Given the description of an element on the screen output the (x, y) to click on. 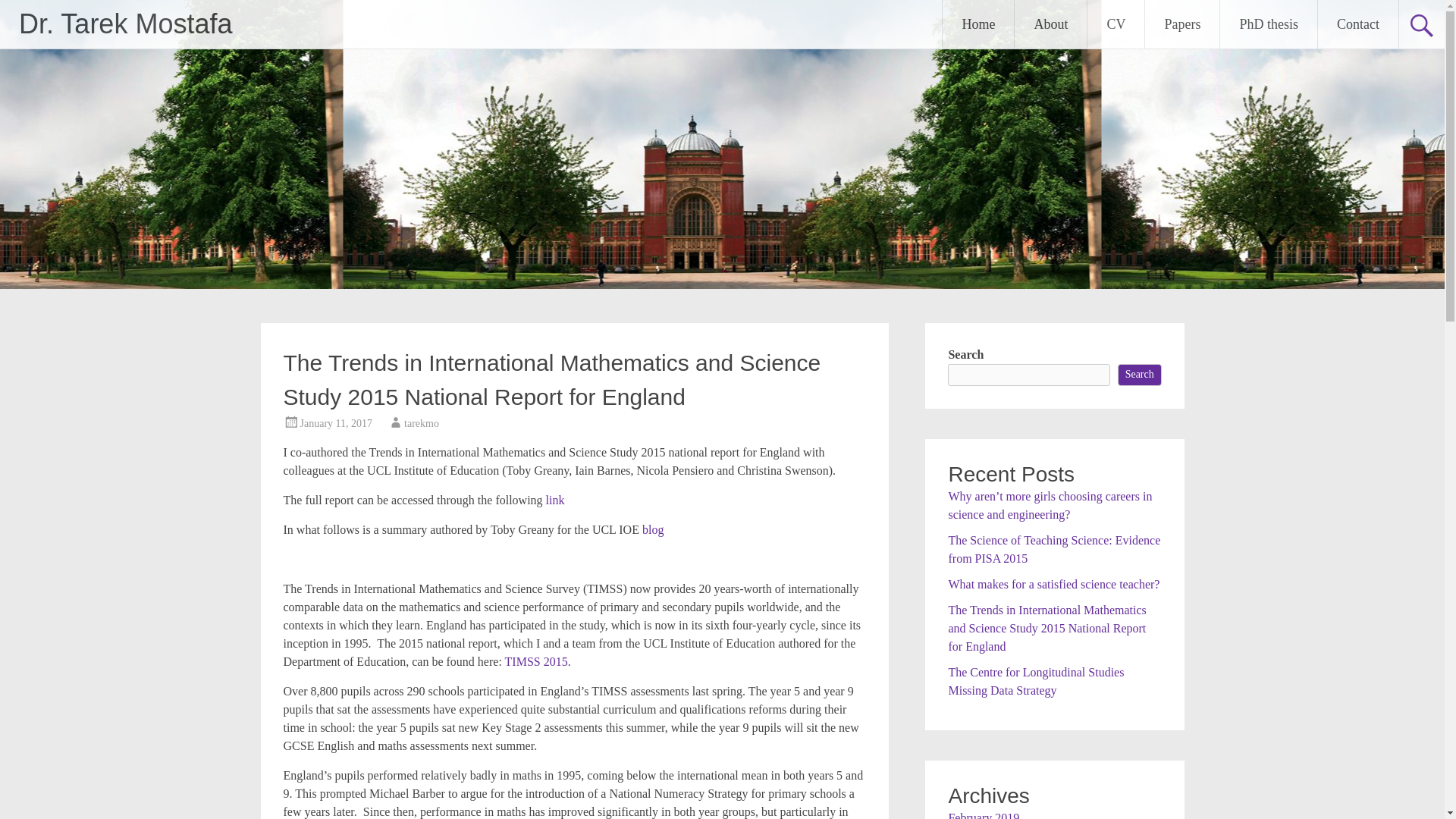
Home (977, 24)
tarekmo (421, 423)
Contact (1357, 24)
Search (1139, 374)
Dr. Tarek Mostafa (124, 23)
January 11, 2017 (335, 423)
blog (652, 529)
TIMSS 2015 (536, 661)
The Science of Teaching Science: Evidence from PISA 2015 (1053, 549)
February 2019 (983, 815)
The Centre for Longitudinal Studies Missing Data Strategy (1035, 680)
PhD thesis (1268, 24)
Dr. Tarek Mostafa (124, 23)
Papers (1182, 24)
